Given the description of an element on the screen output the (x, y) to click on. 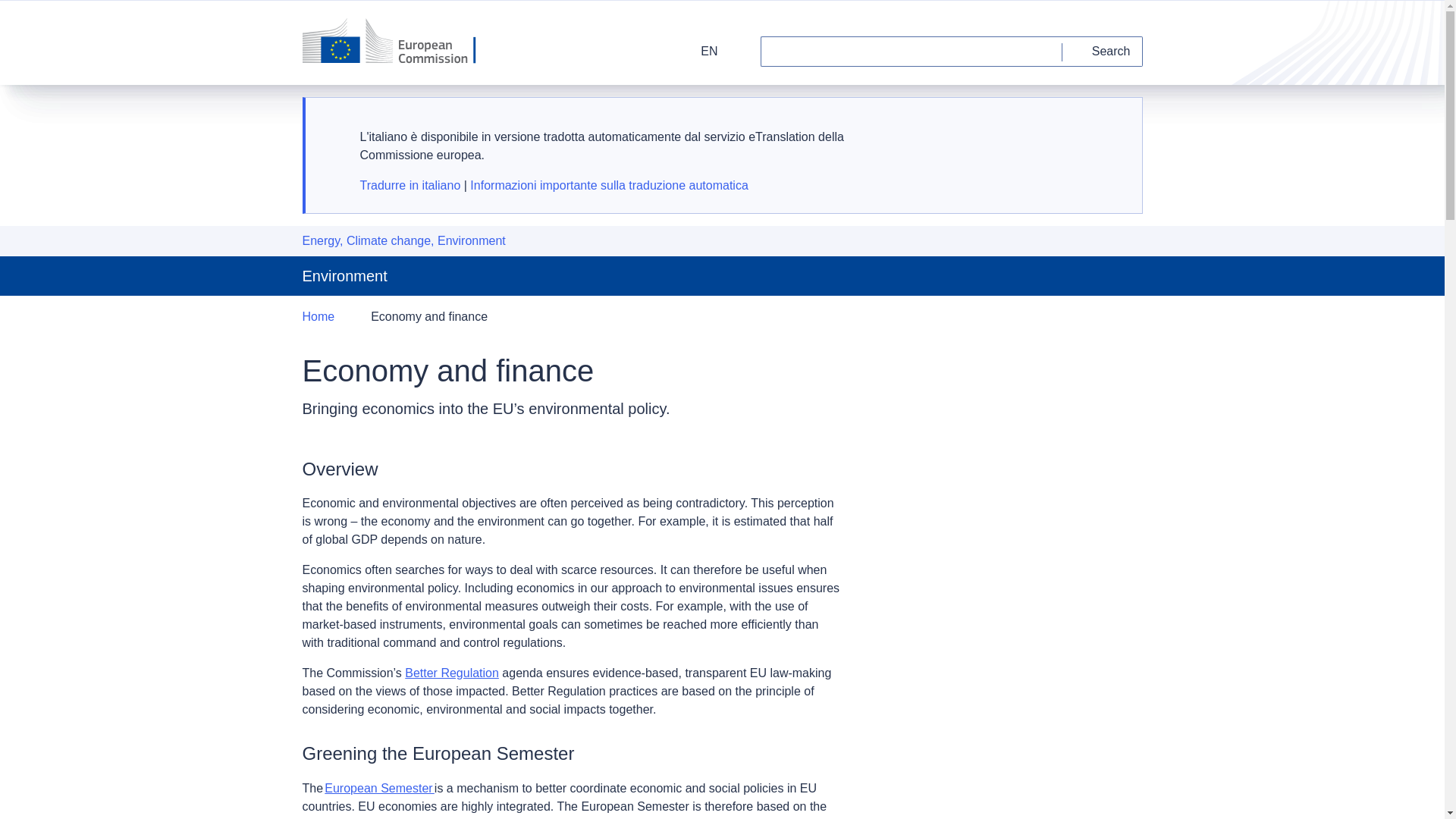
Better Regulation (451, 672)
European Commission (399, 42)
Informazioni importante sulla traduzione automatica (609, 185)
Search (1102, 51)
Home (317, 316)
European Semester (378, 788)
Energy, Climate change, Environment (403, 240)
Chiudi il messaggio (1112, 124)
Tradurre in italiano (409, 185)
